Given the description of an element on the screen output the (x, y) to click on. 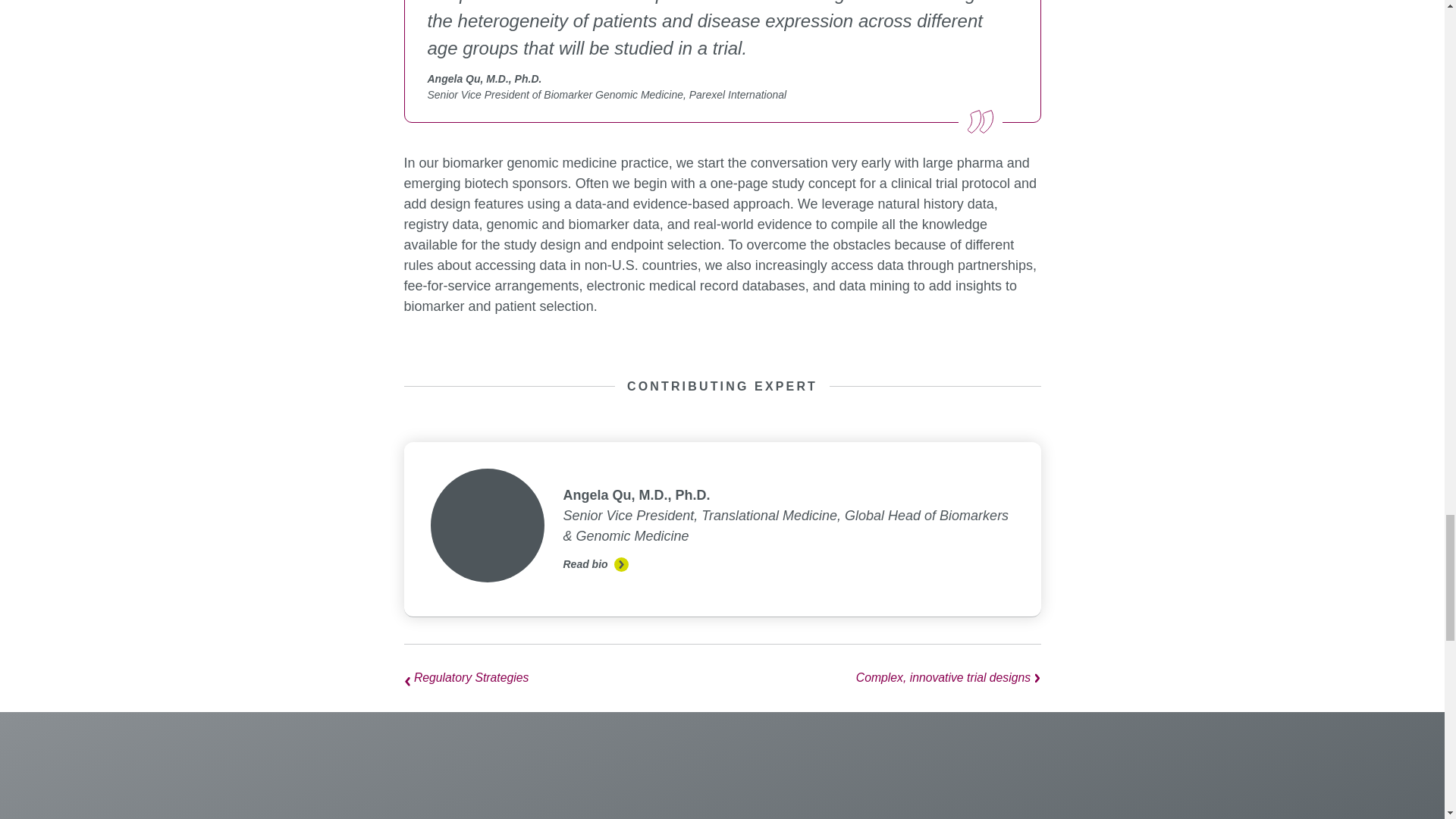
Regulatory Strategies (554, 677)
Complex, innovative trial designs (889, 677)
